Given the description of an element on the screen output the (x, y) to click on. 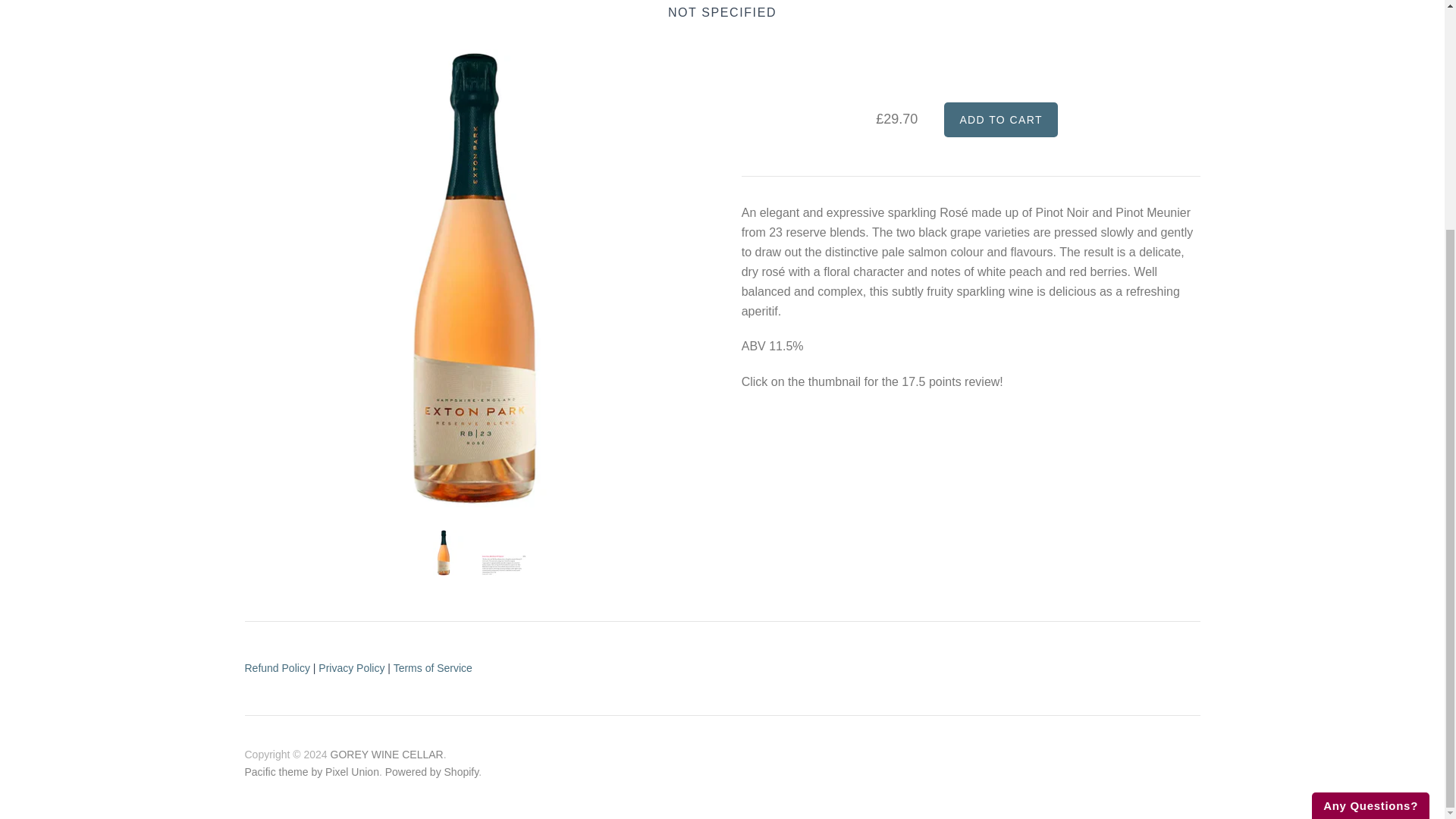
Terms of Service (432, 667)
Privacy Policy (351, 667)
Privacy Policy (351, 667)
GOREY WINE CELLAR (387, 754)
Refund Policy (276, 667)
Add to cart (1000, 119)
Powered by Shopify (432, 771)
NOT SPECIFIED (722, 12)
Add to cart (1000, 119)
Refund Policy (276, 667)
Pacific theme by Pixel Union (311, 771)
Terms of service (432, 667)
